Given the description of an element on the screen output the (x, y) to click on. 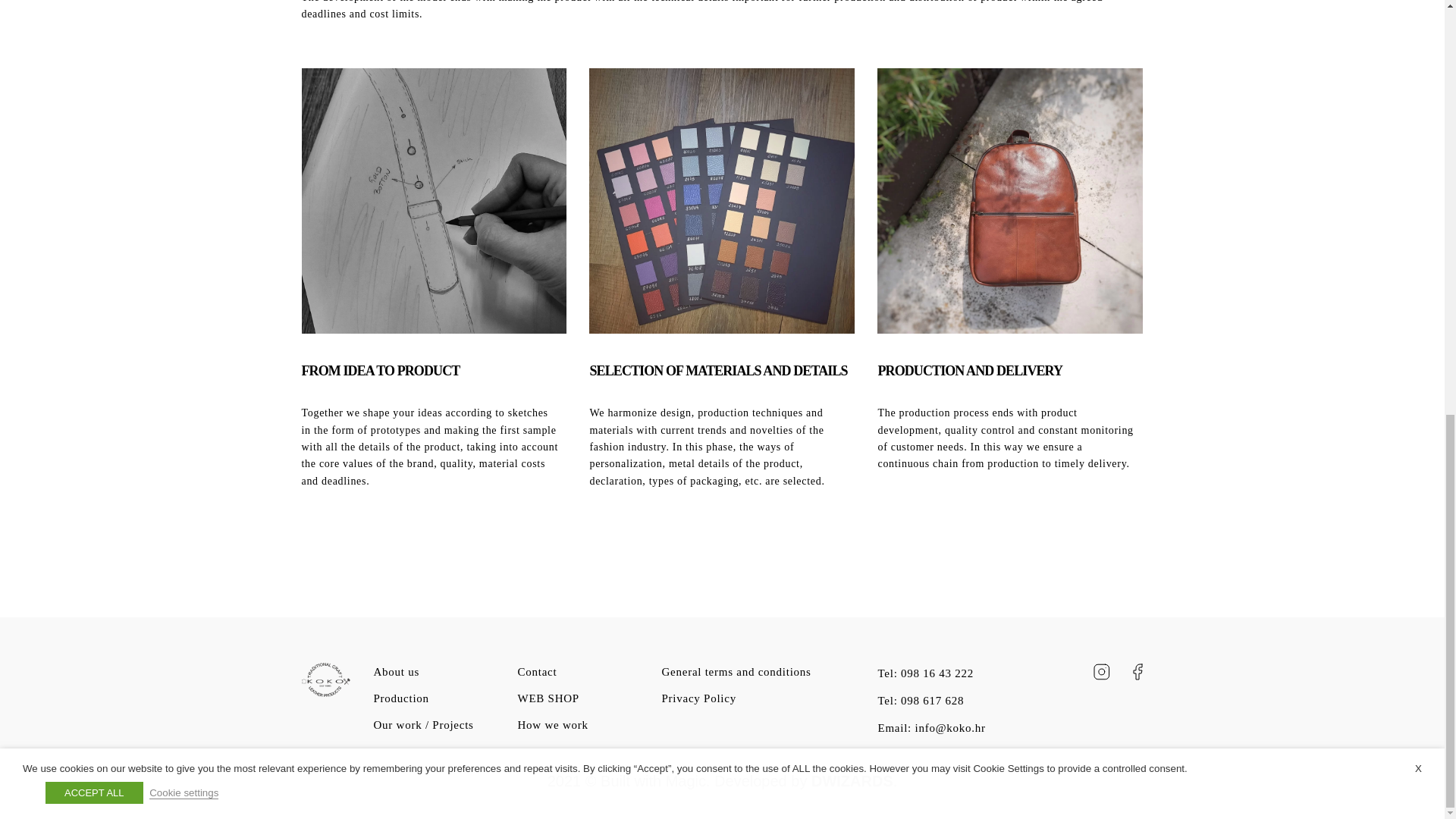
PRODUCTION AND DELIVERY (969, 370)
SELECTION OF MATERIALS AND DETAILS (718, 370)
Contact (536, 671)
General terms and conditions (735, 671)
Tel: 098 617 628 (920, 700)
How we work (552, 725)
Tel: 098 16 43 222 (925, 673)
Privacy Policy (698, 698)
FROM IDEA TO PRODUCT (380, 370)
Production (400, 698)
About us (395, 671)
DWIZARDS (851, 781)
WEB SHOP (547, 698)
